Given the description of an element on the screen output the (x, y) to click on. 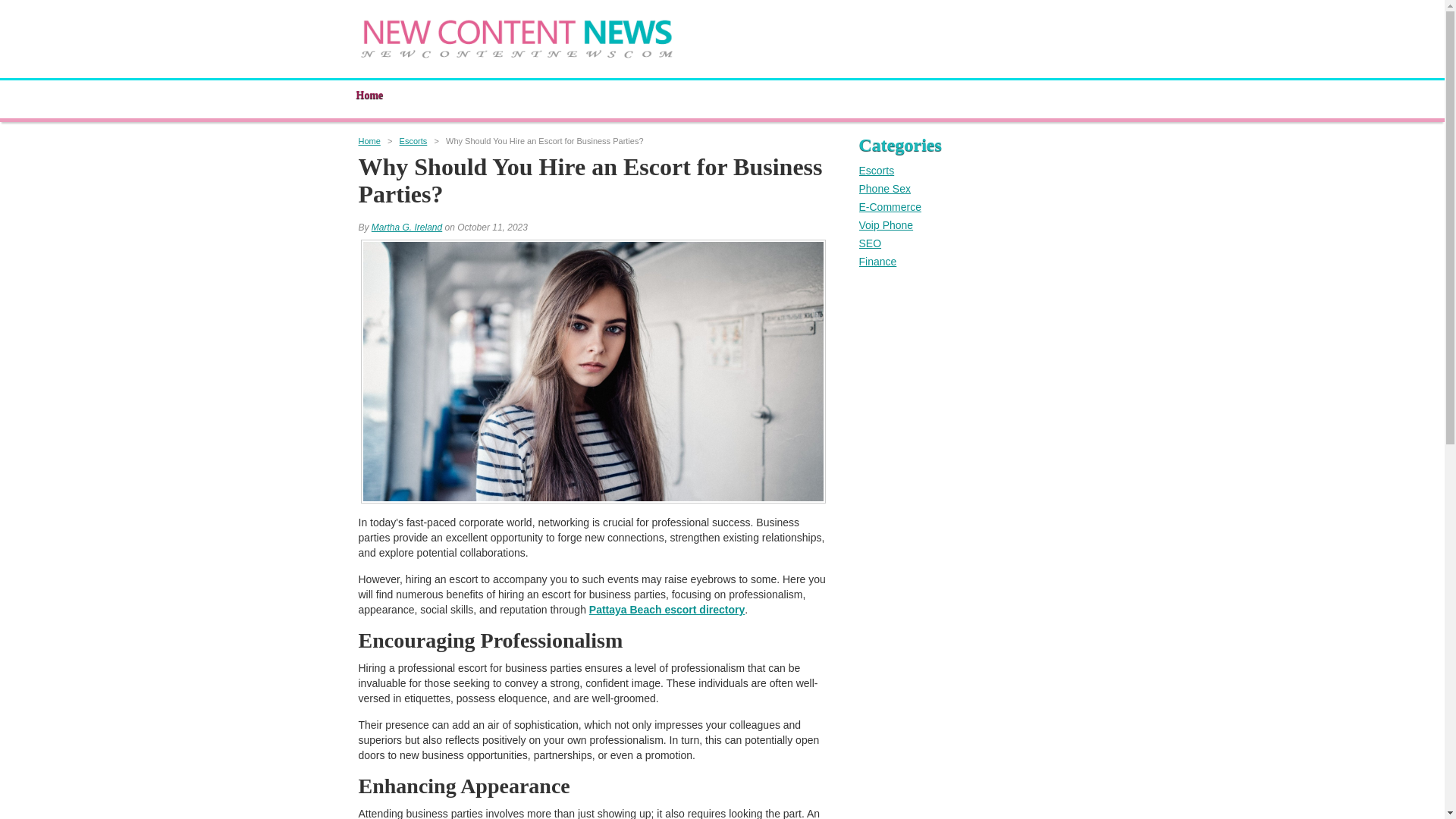
Escorts (876, 170)
Home (369, 140)
Phone Sex (885, 188)
Home (369, 98)
Finance (877, 261)
Martha G. Ireland (406, 226)
Escorts (413, 140)
Pattaya Beach escort directory (666, 609)
Voip Phone (885, 224)
SEO (869, 243)
E-Commerce (889, 206)
Home (721, 98)
